Given the description of an element on the screen output the (x, y) to click on. 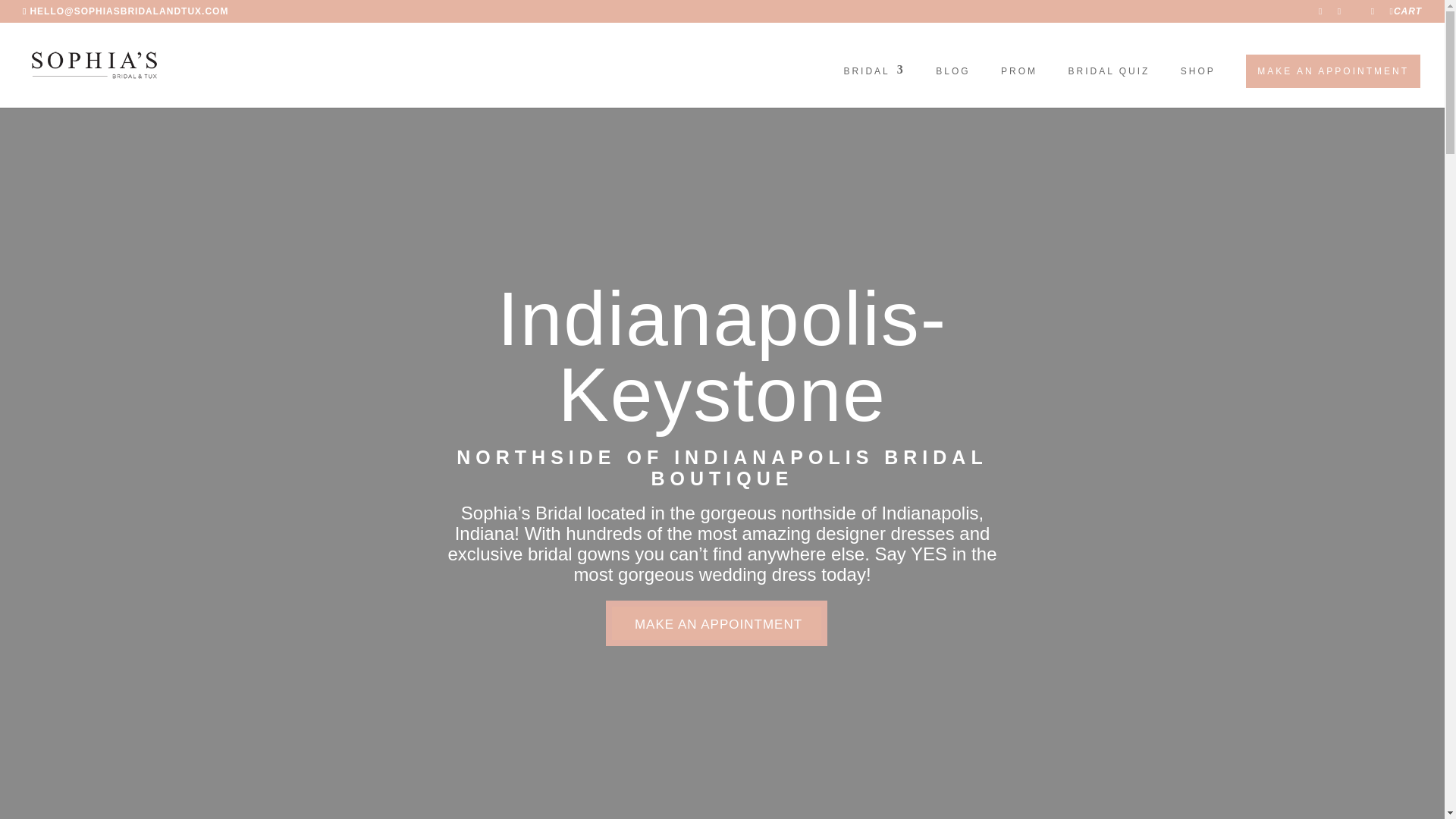
BRIDAL (873, 86)
MAKE AN APPOINTMENT (1333, 70)
BRIDAL QUIZ (1108, 86)
MAKE AN APPOINTMENT (716, 623)
CART (1405, 14)
